Given the description of an element on the screen output the (x, y) to click on. 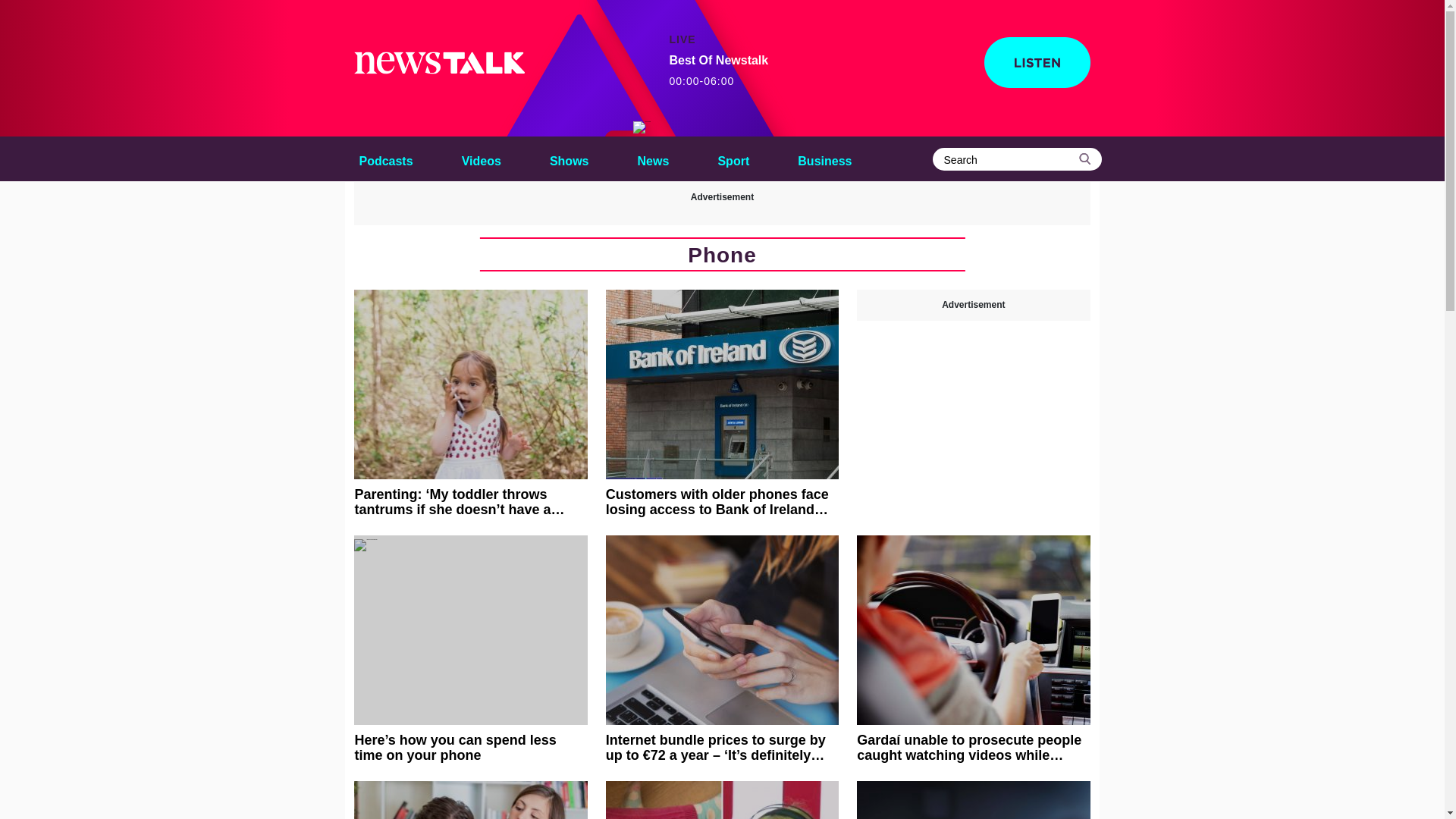
Podcasts (384, 158)
Business (824, 158)
Business (824, 158)
News (653, 158)
Videos (481, 158)
Podcasts (384, 158)
Sport (718, 70)
News (733, 158)
Sport (653, 158)
Best Of Newstalk (733, 158)
Shows (641, 127)
Videos (569, 158)
